Given the description of an element on the screen output the (x, y) to click on. 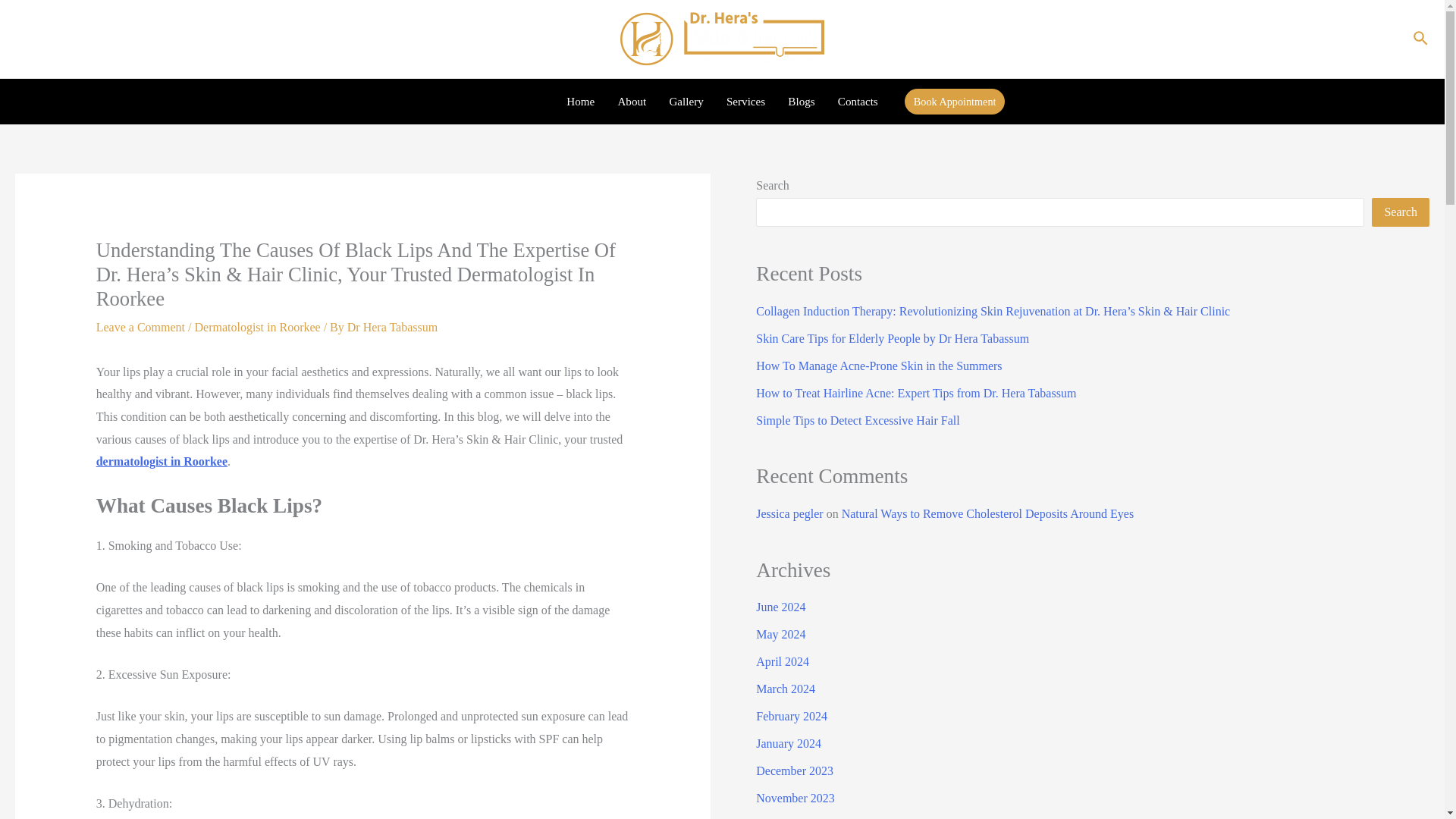
Home (579, 101)
View all posts by Dr Hera Tabassum (392, 327)
Book Appointment (955, 101)
Search (1400, 212)
Dr Hera Tabassum (1365, 38)
About (631, 101)
Gallery (686, 101)
Blogs (800, 101)
Contacts (858, 101)
Dr Hera Tabassum (392, 327)
Dermatologist in Roorkee (256, 327)
dermatologist in Roorkee (161, 461)
Leave a Comment (140, 327)
Services (745, 101)
